Given the description of an element on the screen output the (x, y) to click on. 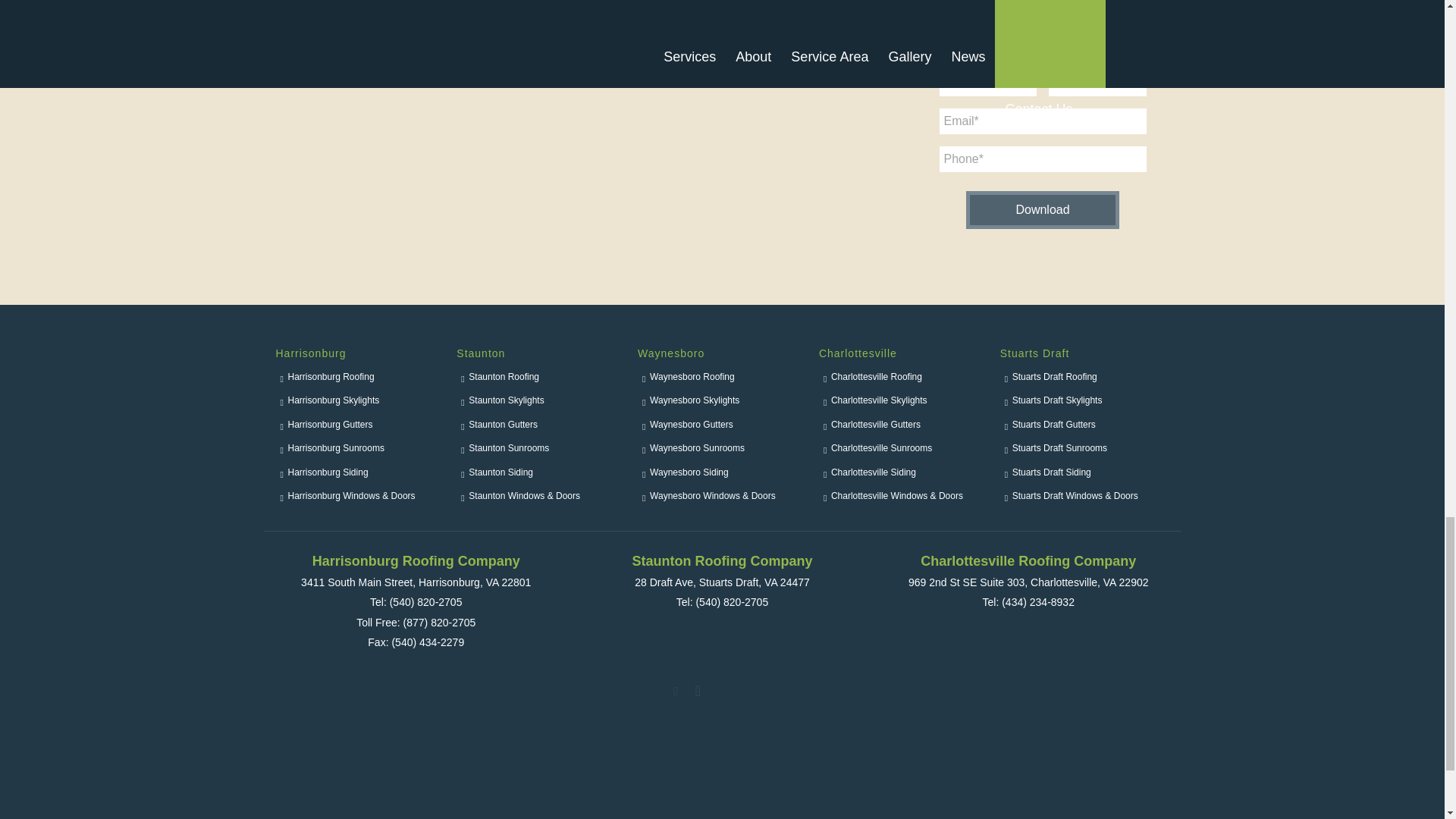
Download (1042, 209)
